Given the description of an element on the screen output the (x, y) to click on. 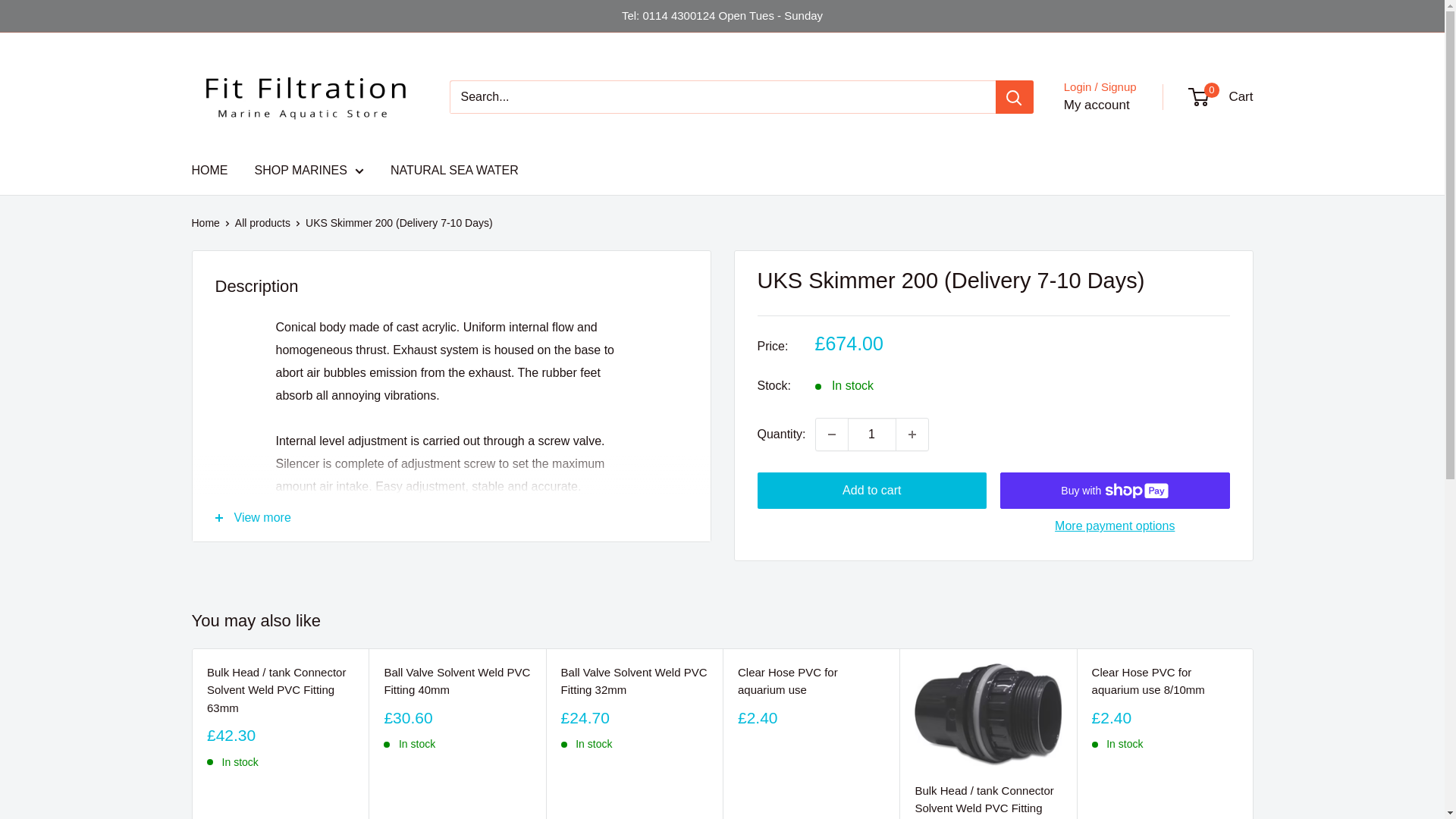
Decrease quantity by 1 (831, 434)
Increase quantity by 1 (912, 434)
1 (871, 434)
